Given the description of an element on the screen output the (x, y) to click on. 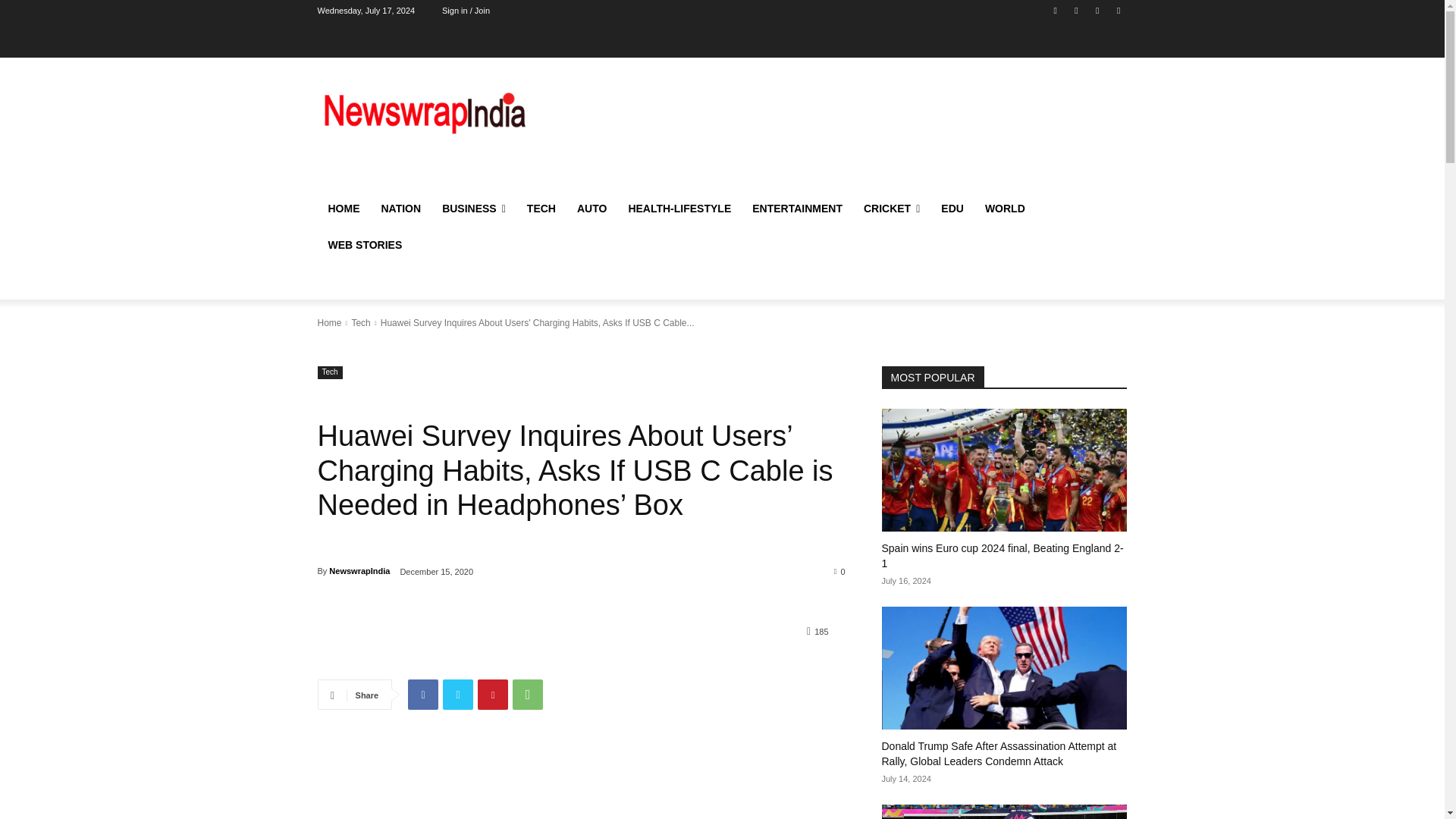
TECH (541, 208)
BUSINESS (473, 208)
USB C charging cable. Image used for representation. (519, 785)
NATION (399, 208)
AUTO (591, 208)
Twitter (457, 694)
Facebook (1055, 9)
ENTERTAINMENT (797, 208)
Twitter (1075, 9)
Youtube (1097, 9)
Advertisement (846, 128)
Pinterest (492, 694)
CRICKET (891, 208)
HOME (343, 208)
Facebook (422, 694)
